Given the description of an element on the screen output the (x, y) to click on. 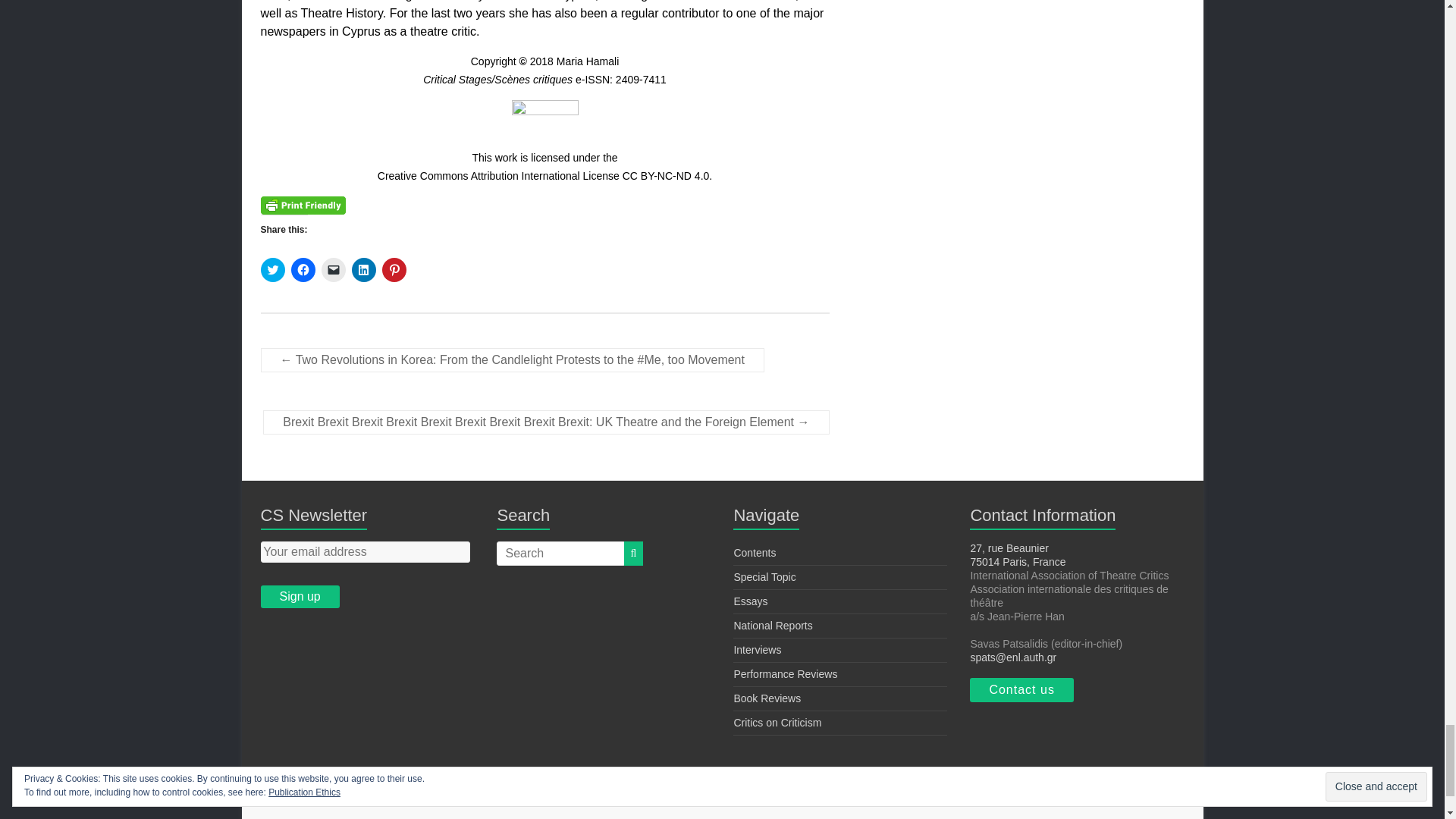
Click to share on LinkedIn (363, 269)
Click to share on Pinterest (393, 269)
Click to share on Facebook (303, 269)
Click to share on Twitter (272, 269)
Click to email a link to a friend (333, 269)
Sign up (299, 596)
